Given the description of an element on the screen output the (x, y) to click on. 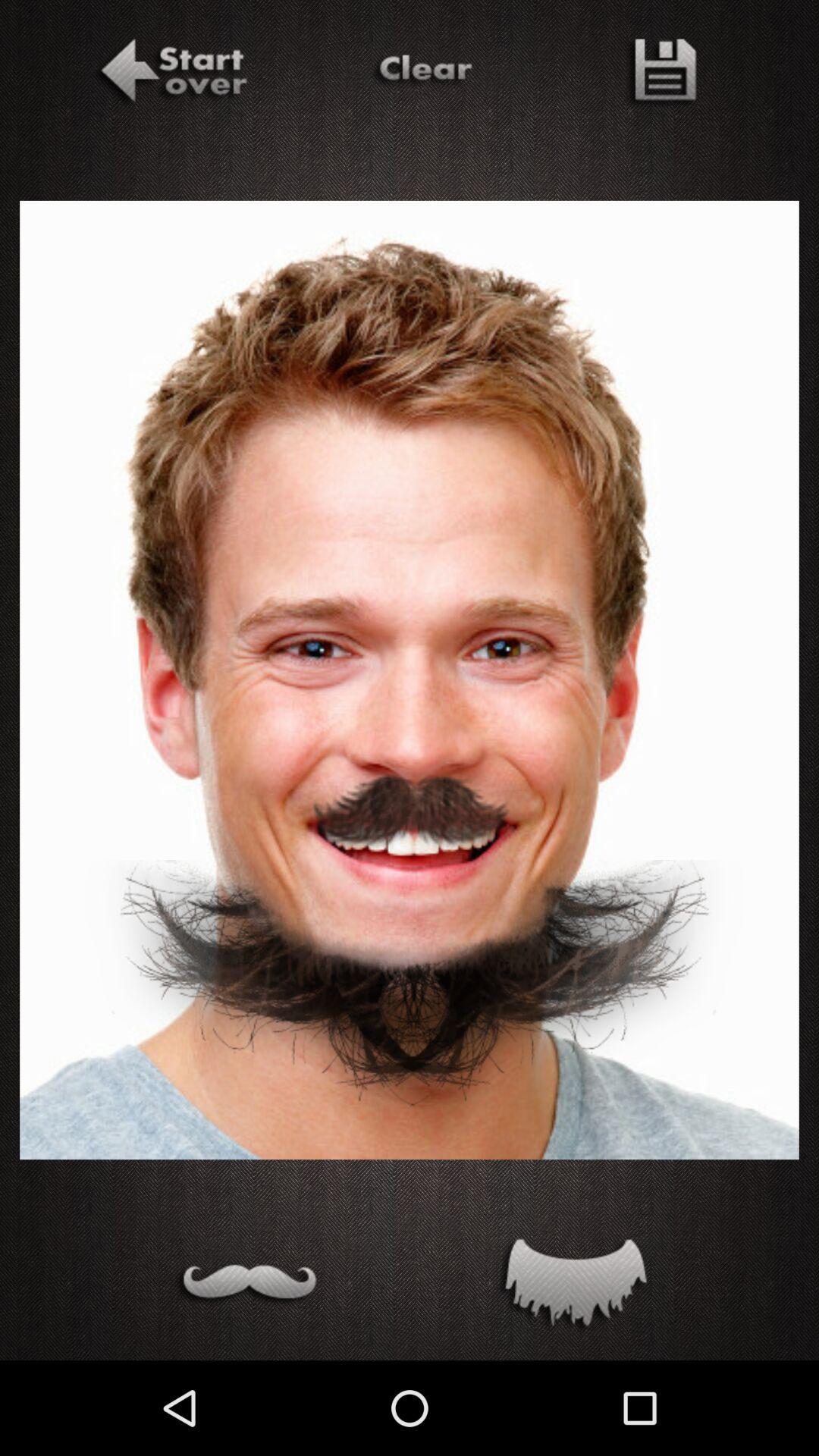
save image (660, 73)
